Given the description of an element on the screen output the (x, y) to click on. 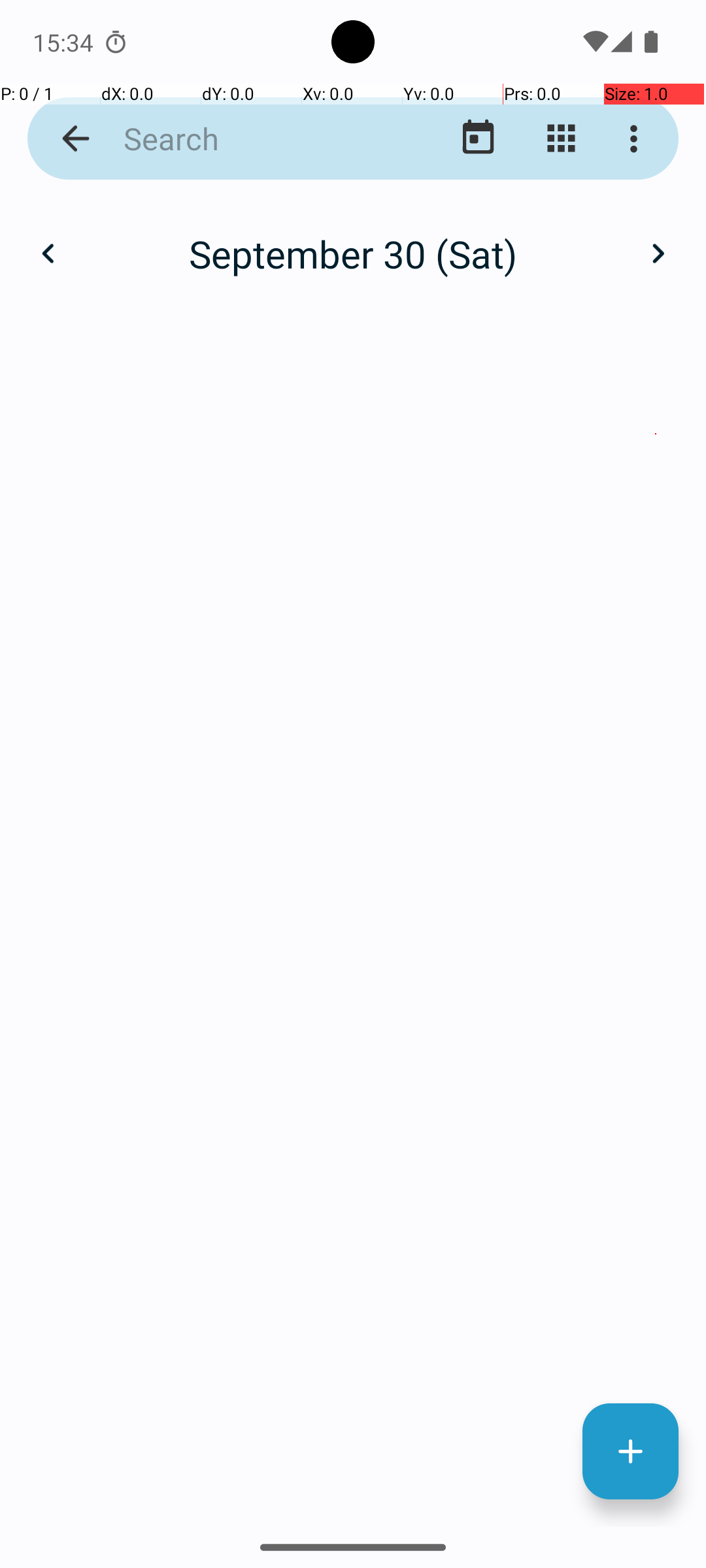
September 30 (Sat) Element type: android.widget.TextView (352, 253)
